Given the description of an element on the screen output the (x, y) to click on. 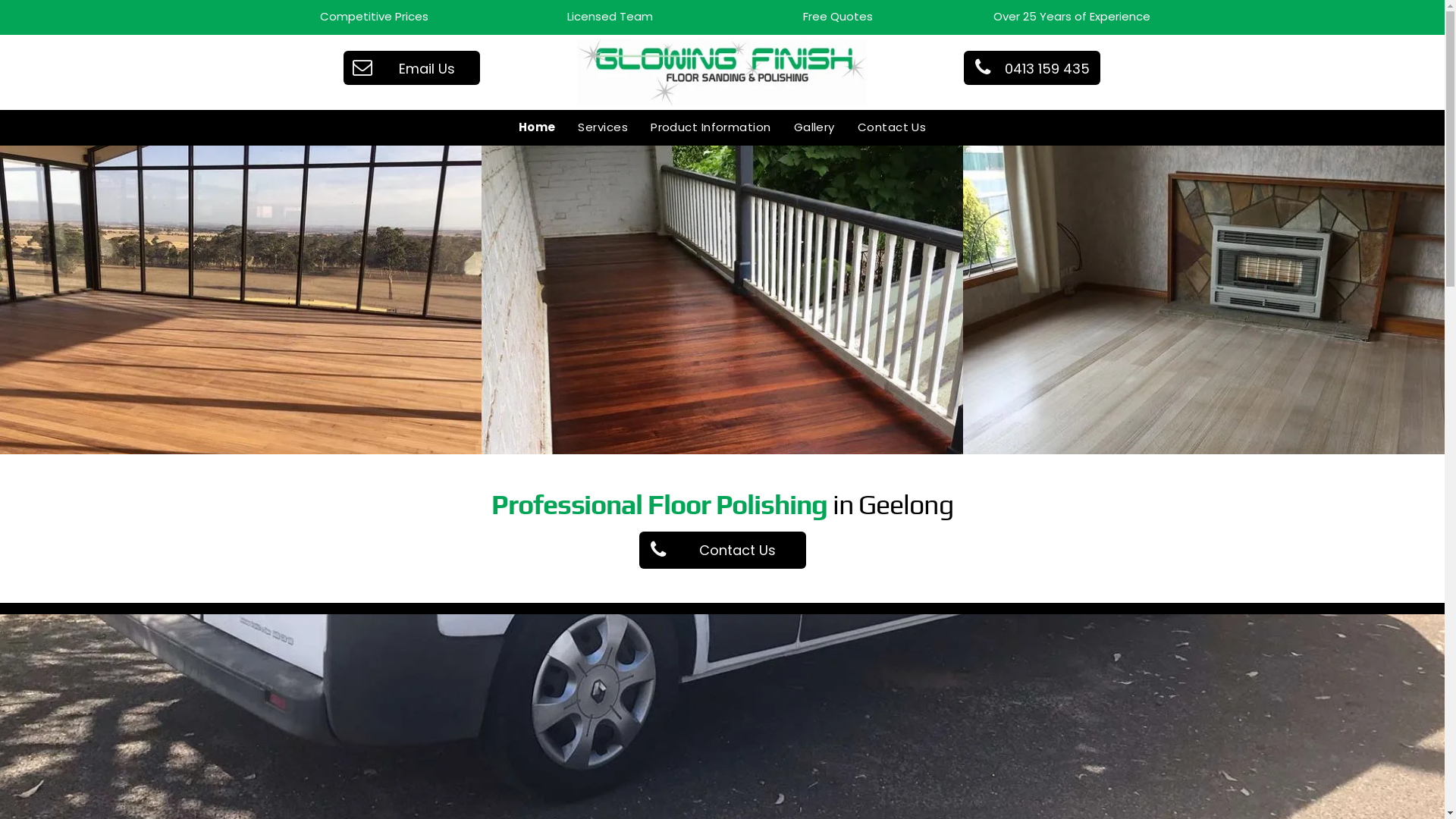
Gallery Element type: text (814, 127)
0413 159 435 Element type: text (1031, 67)
Contact Us Element type: text (721, 549)
Services Element type: text (602, 127)
Home Element type: text (537, 127)
Email Us Element type: text (411, 67)
Product Information Element type: text (710, 127)
Contact Us Element type: text (892, 127)
